Given the description of an element on the screen output the (x, y) to click on. 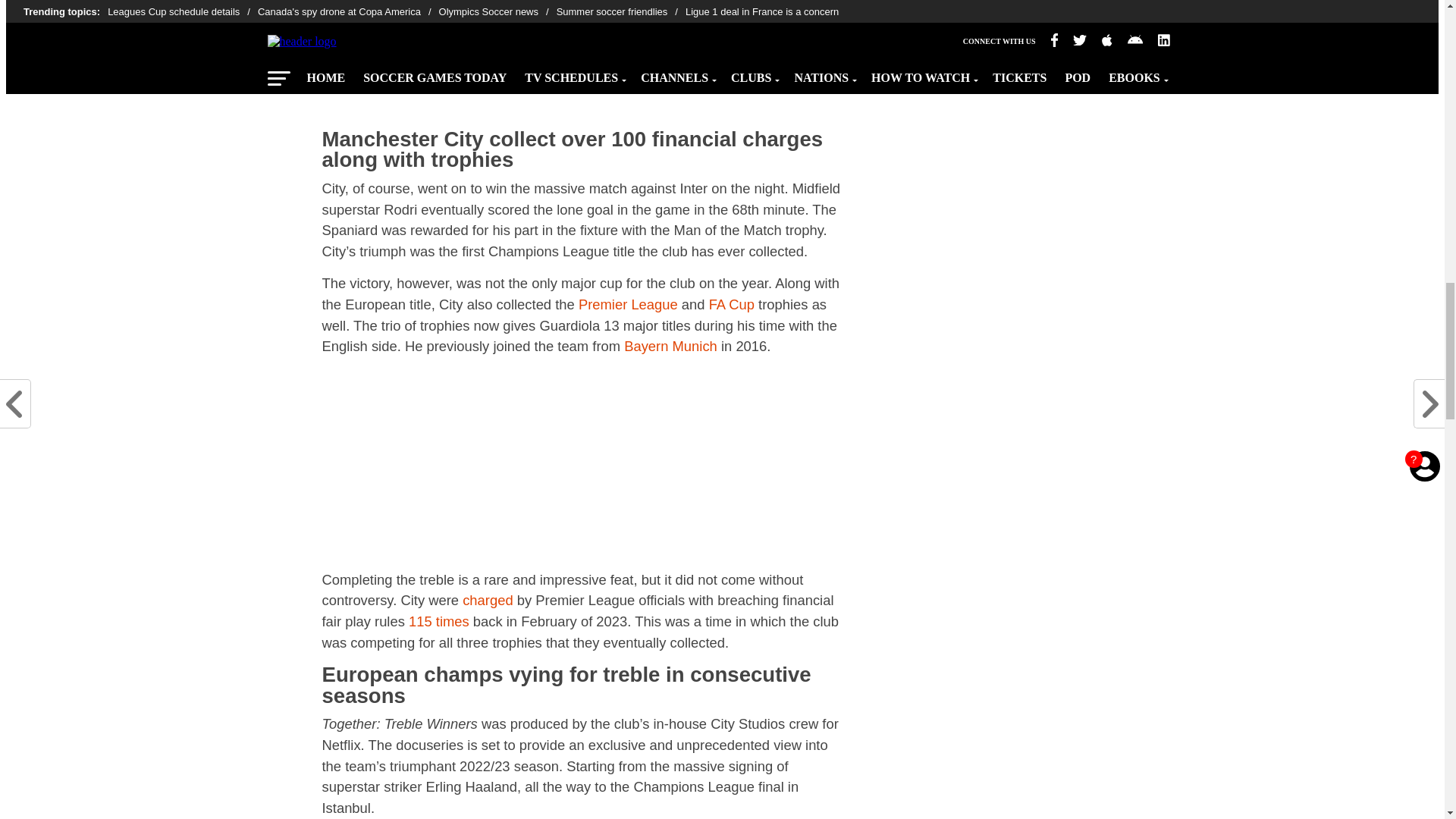
Premier League (628, 304)
FA Cup (731, 304)
